Given the description of an element on the screen output the (x, y) to click on. 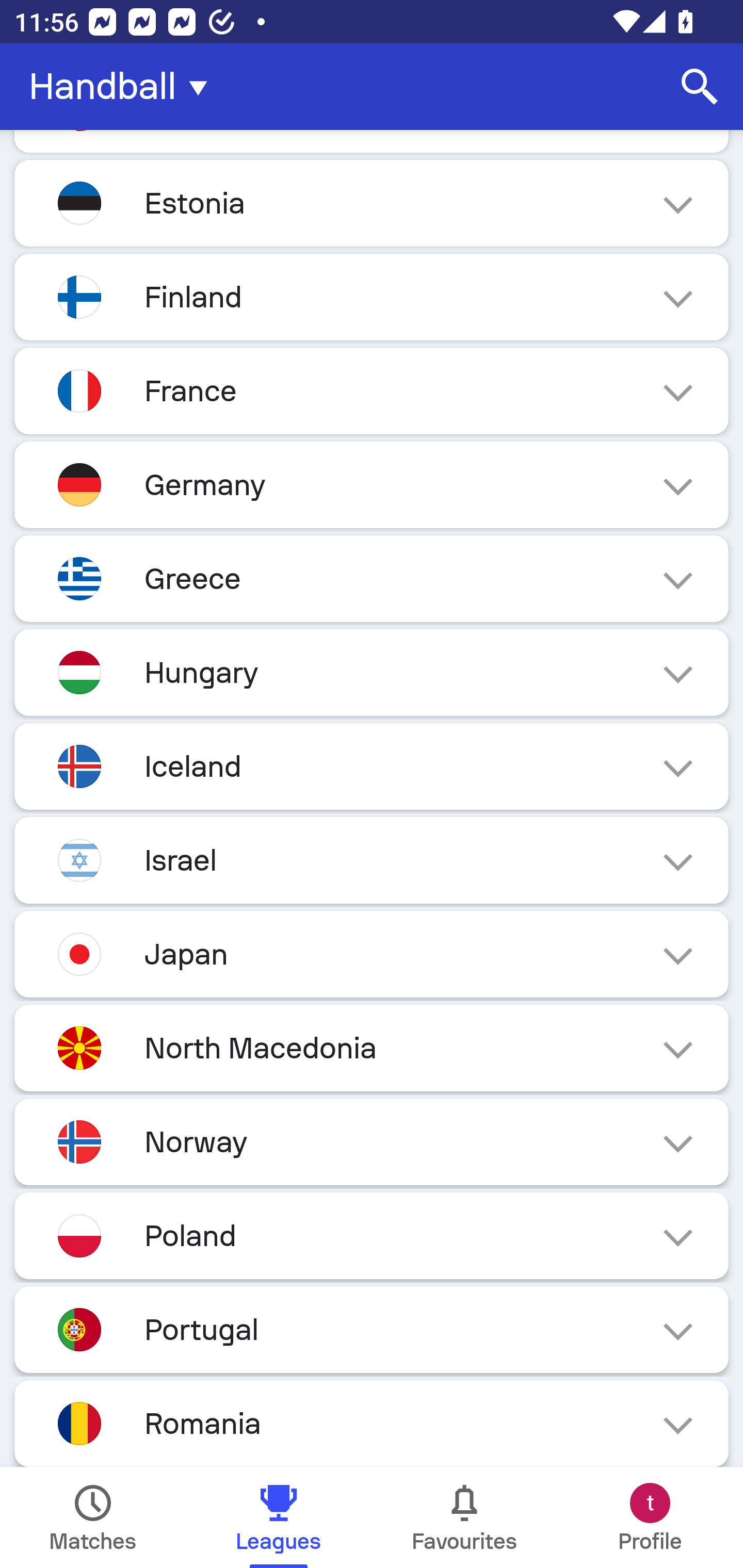
Handball (124, 86)
Search (699, 86)
Estonia (371, 202)
Finland (371, 297)
France (371, 391)
Germany (371, 485)
Greece (371, 578)
Hungary (371, 672)
Iceland (371, 765)
Israel (371, 859)
Japan (371, 954)
North Macedonia (371, 1048)
Norway (371, 1142)
Poland (371, 1236)
Portugal (371, 1329)
Romania (371, 1423)
Matches (92, 1517)
Favourites (464, 1517)
Profile (650, 1517)
